Given the description of an element on the screen output the (x, y) to click on. 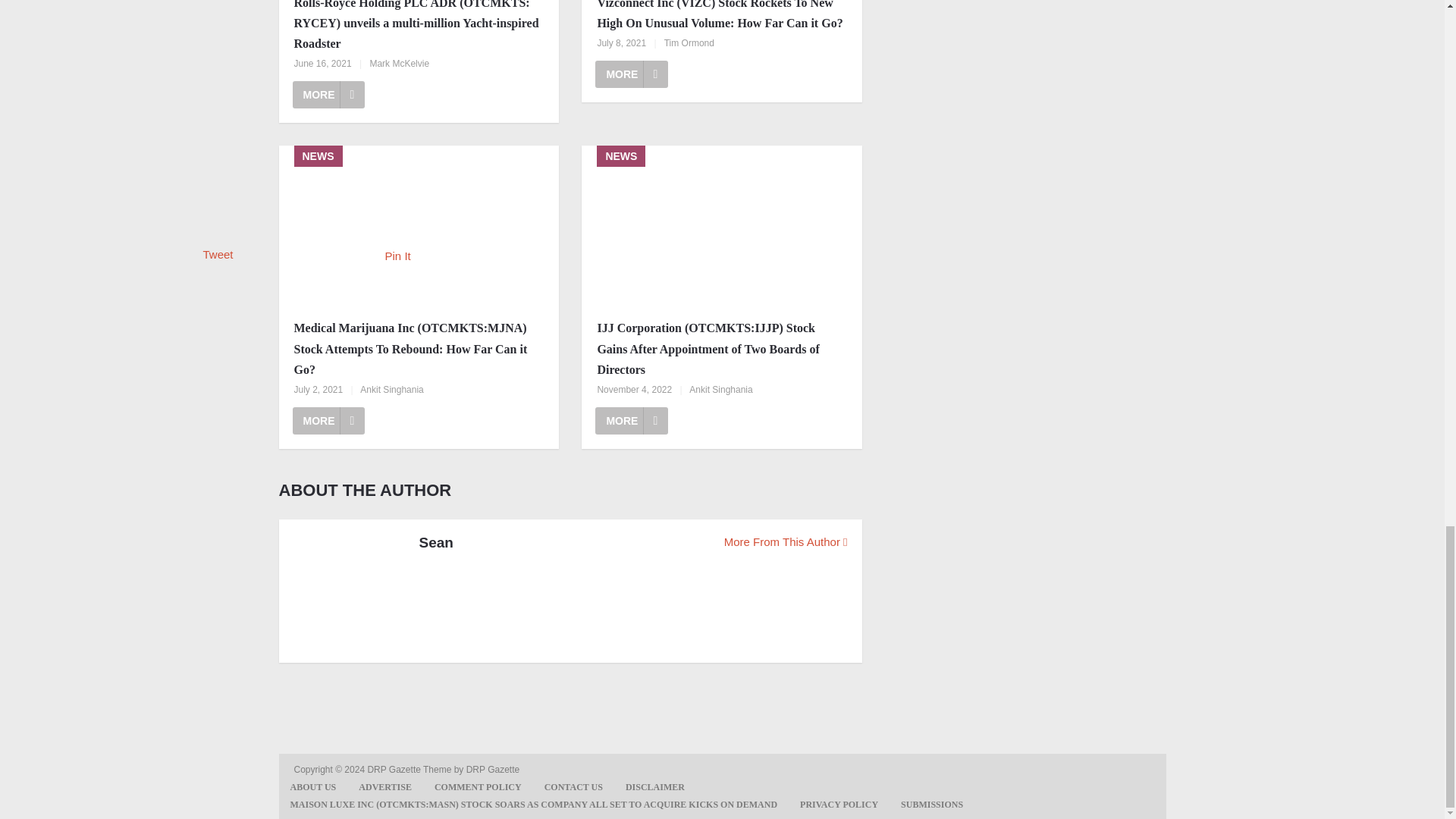
MORE (631, 73)
NEWS (419, 226)
Ankit Singhania (391, 389)
Posts by Mark McKelvie (399, 63)
Ankit Singhania (720, 389)
Posts by Tim Ormond (688, 42)
MORE (328, 94)
Posts by Ankit Singhania (391, 389)
NEWS (720, 226)
Sean (435, 542)
MORE (631, 420)
Tim Ormond (688, 42)
MORE (328, 420)
Mark McKelvie (399, 63)
